Given the description of an element on the screen output the (x, y) to click on. 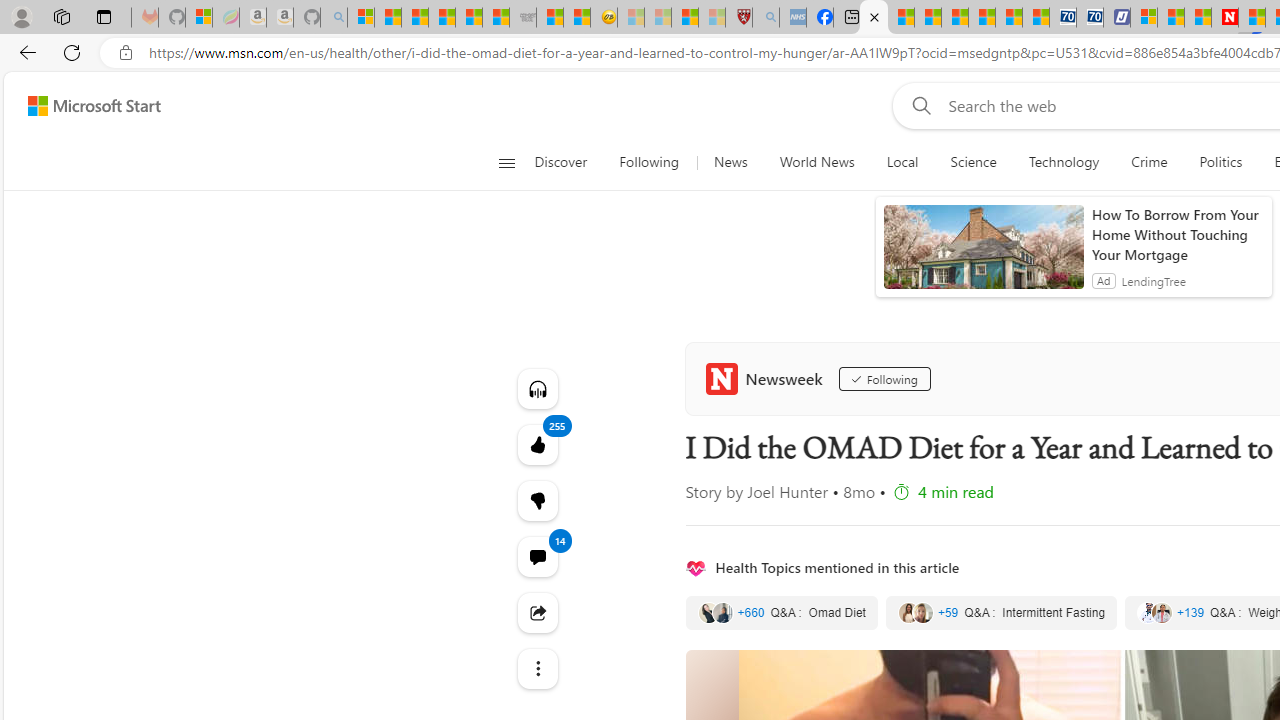
Newsweek (767, 378)
12 Popular Science Lies that Must be Corrected - Sleeping (711, 17)
